Given the description of an element on the screen output the (x, y) to click on. 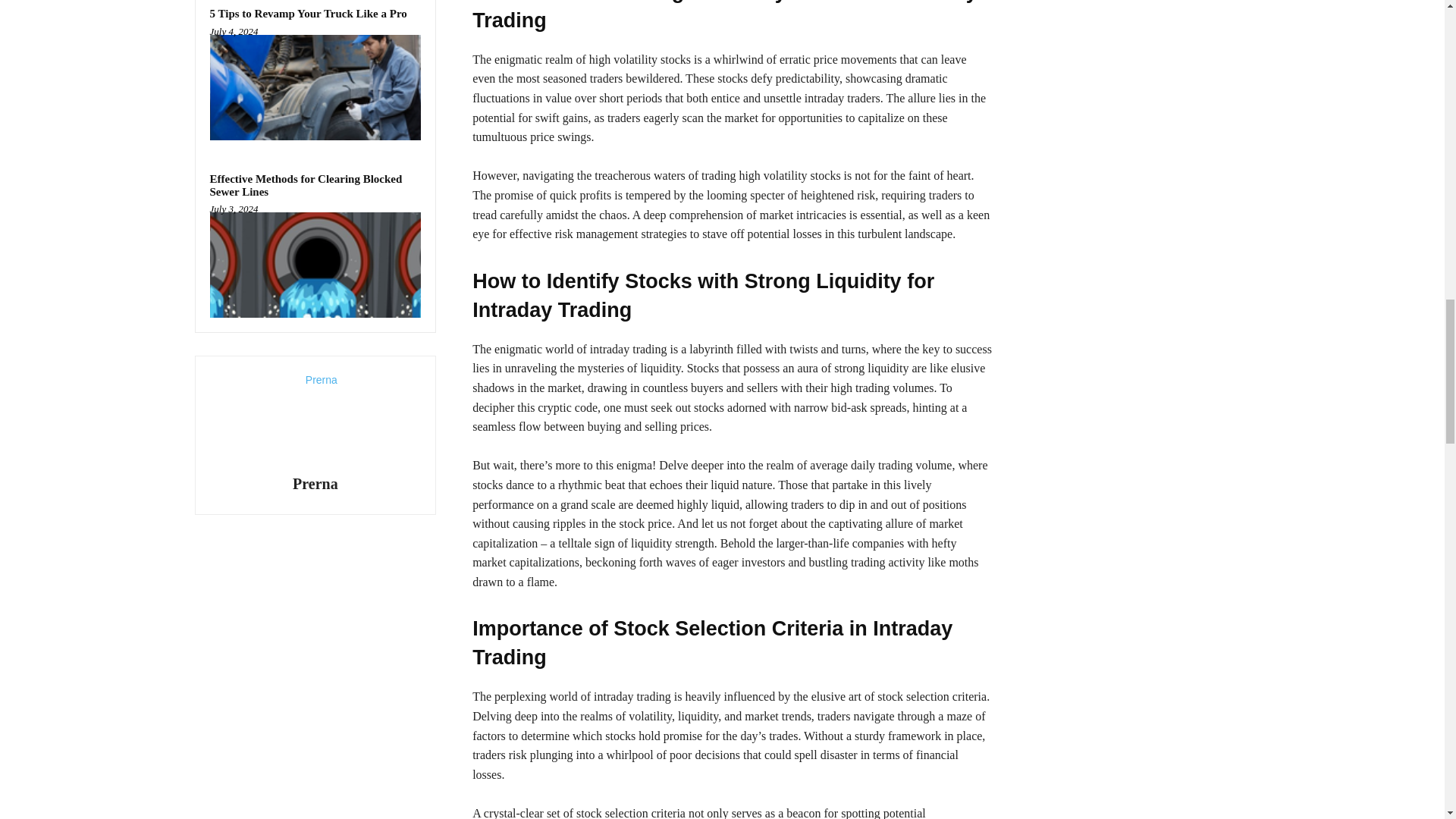
Effective Methods for Clearing Blocked Sewer Lines (305, 185)
5 Tips to Revamp Your Truck Like a Pro (307, 13)
5 Tips to Revamp Your Truck Like a Pro (307, 13)
5 Tips to Revamp Your Truck Like a Pro (314, 87)
Effective Methods for Clearing Blocked Sewer Lines (305, 185)
Prerna (315, 483)
Effective Methods for Clearing Blocked Sewer Lines (314, 264)
